Given the description of an element on the screen output the (x, y) to click on. 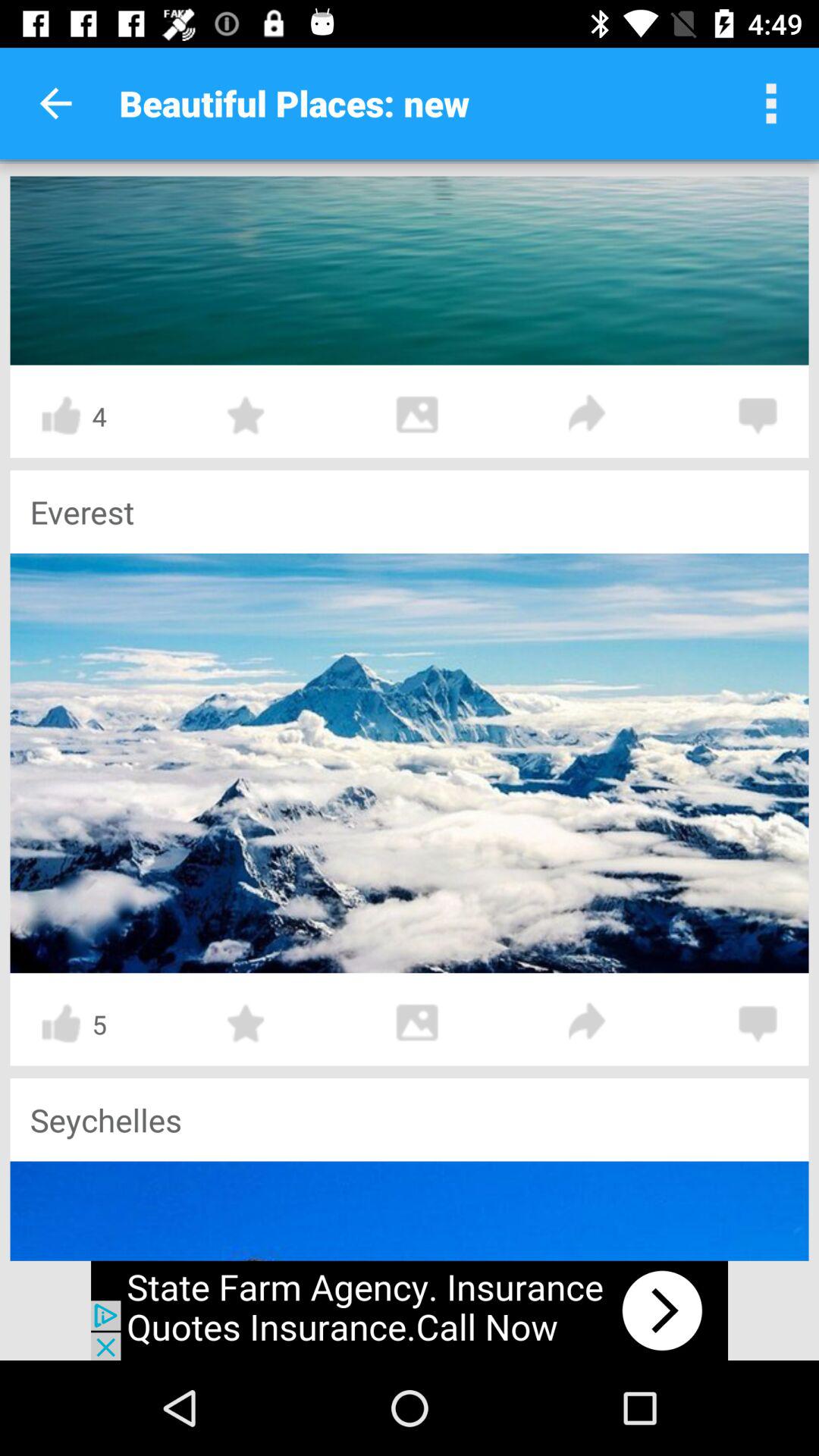
coming up (587, 1023)
